Given the description of an element on the screen output the (x, y) to click on. 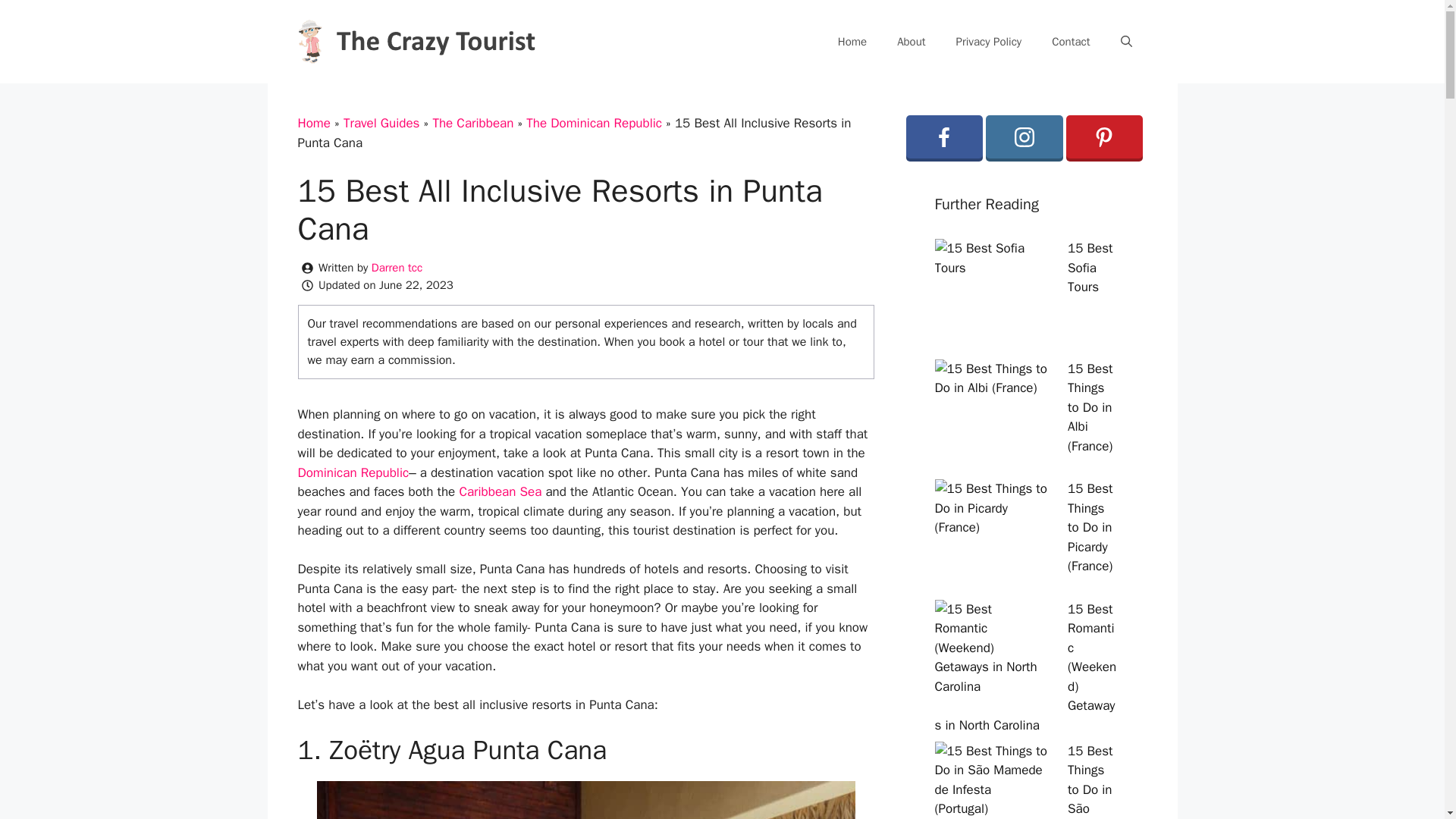
Home (313, 123)
Privacy Policy (988, 41)
Travel Guides (381, 123)
Darren tcc (396, 267)
About (911, 41)
The Caribbean (472, 123)
Dominican Republic (353, 472)
The Dominican Republic (593, 123)
Caribbean Sea (499, 491)
Contact (1070, 41)
Home (852, 41)
